Given the description of an element on the screen output the (x, y) to click on. 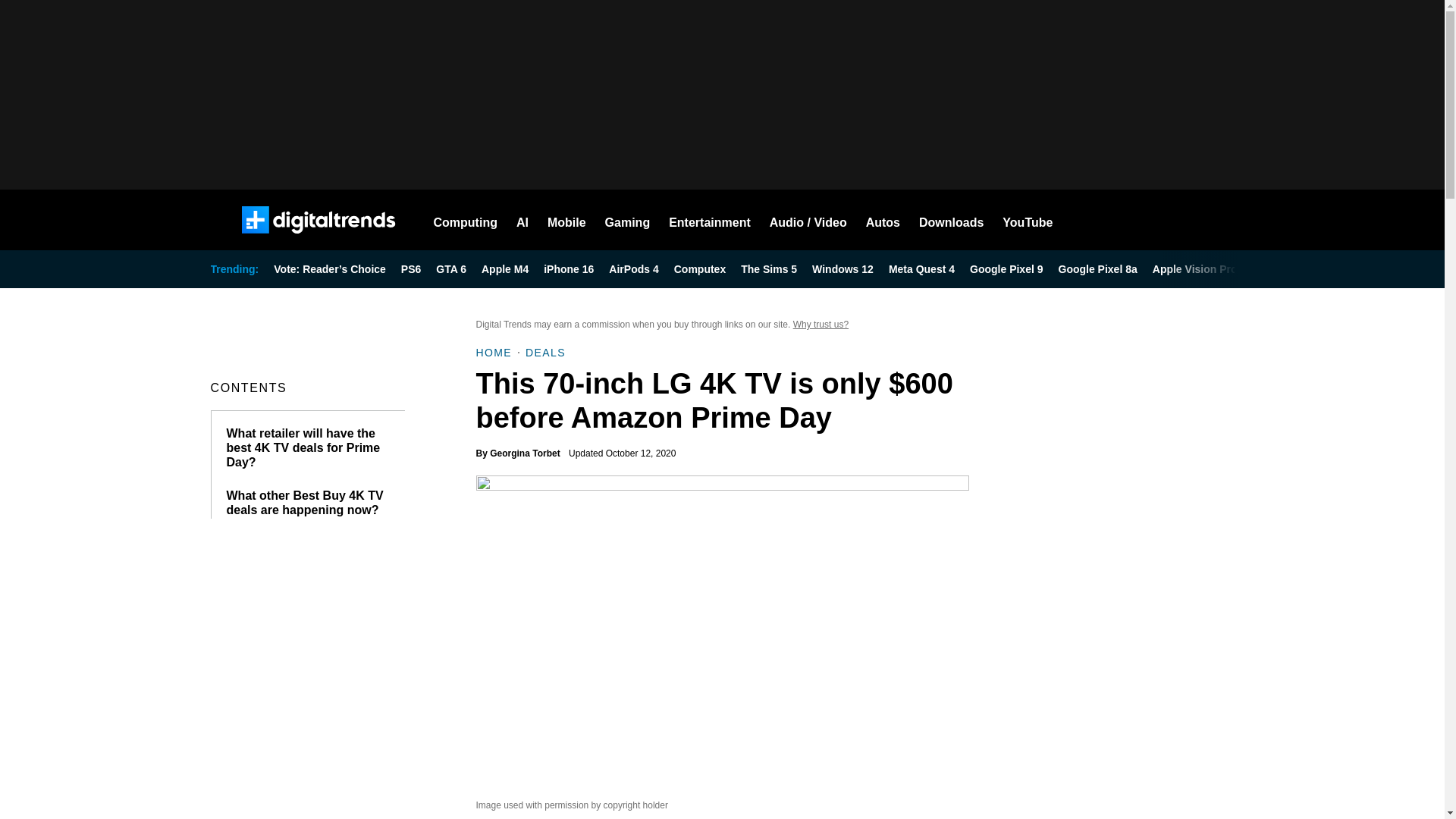
Entertainment (709, 219)
Downloads (951, 219)
Computing (465, 219)
